Given the description of an element on the screen output the (x, y) to click on. 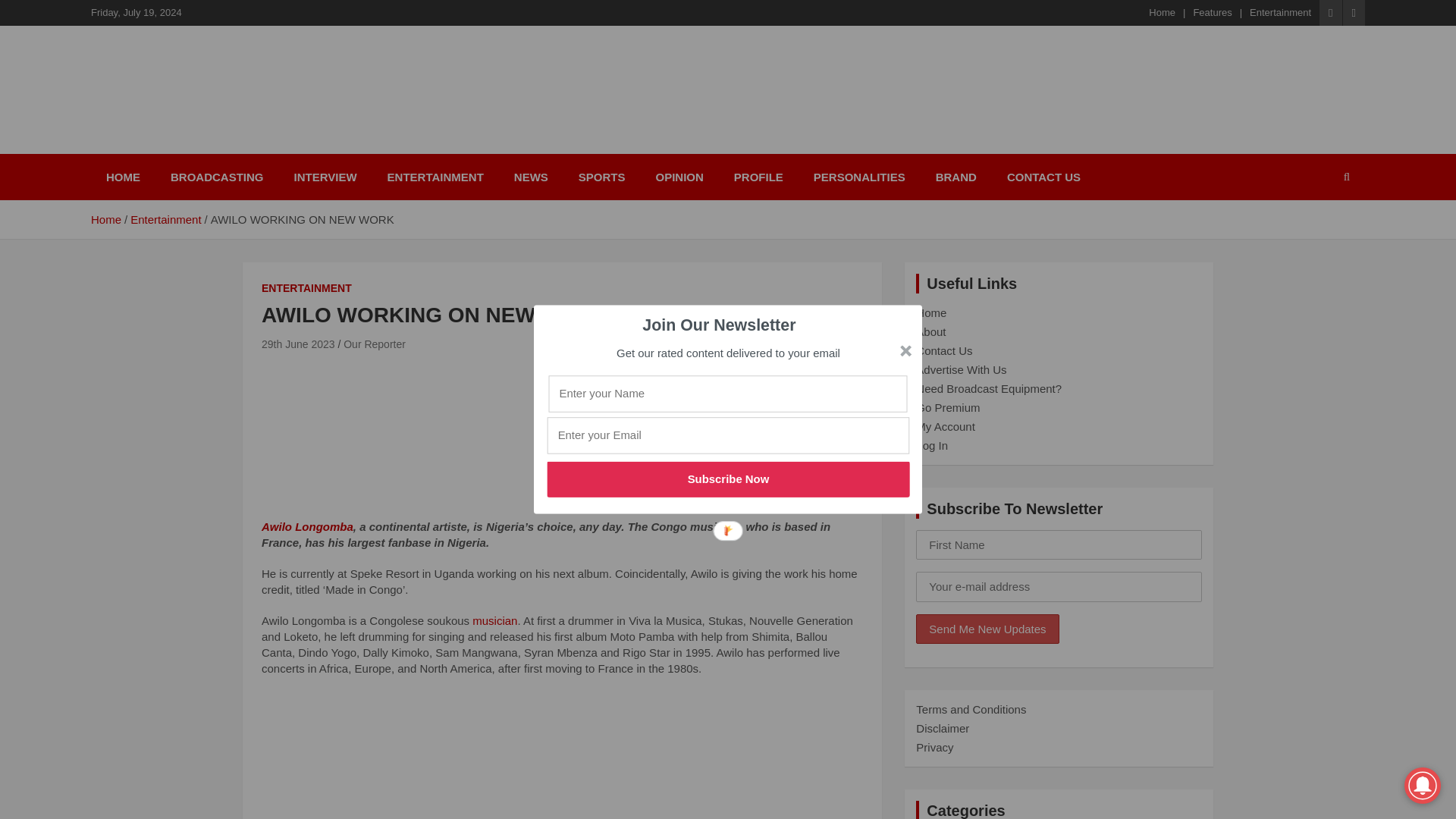
Advertise With Us (960, 369)
Home (105, 219)
BROADCASTING (217, 176)
Contact Us (943, 350)
BRAND (955, 176)
My Account (945, 426)
HOME (122, 176)
Awilo Longomba (307, 526)
musician (493, 620)
INTERVIEW (325, 176)
Go Premium (947, 407)
NEWS (531, 176)
29th June 2023 (298, 344)
ENTERTAINMENT (307, 288)
Home (1161, 12)
